Given the description of an element on the screen output the (x, y) to click on. 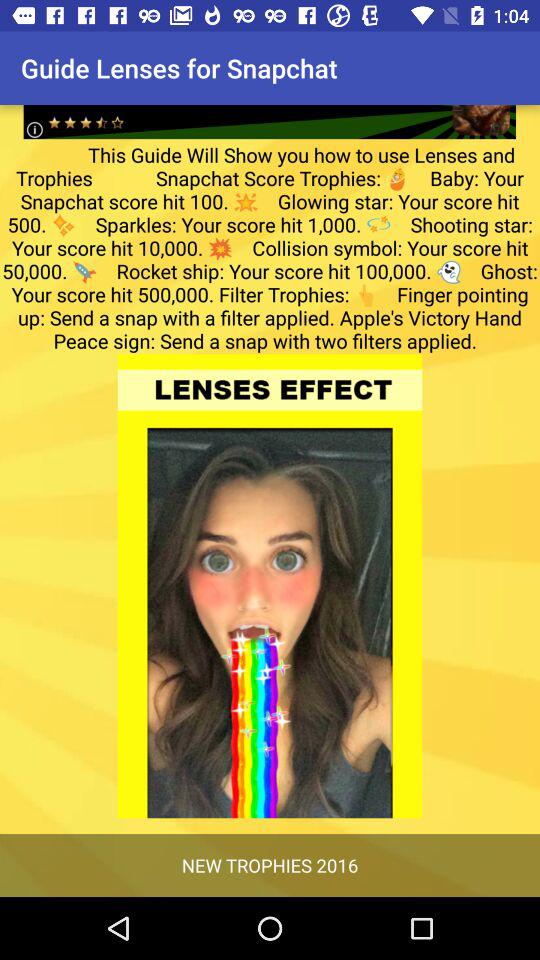
swipe until new trophies 2016 (270, 864)
